Given the description of an element on the screen output the (x, y) to click on. 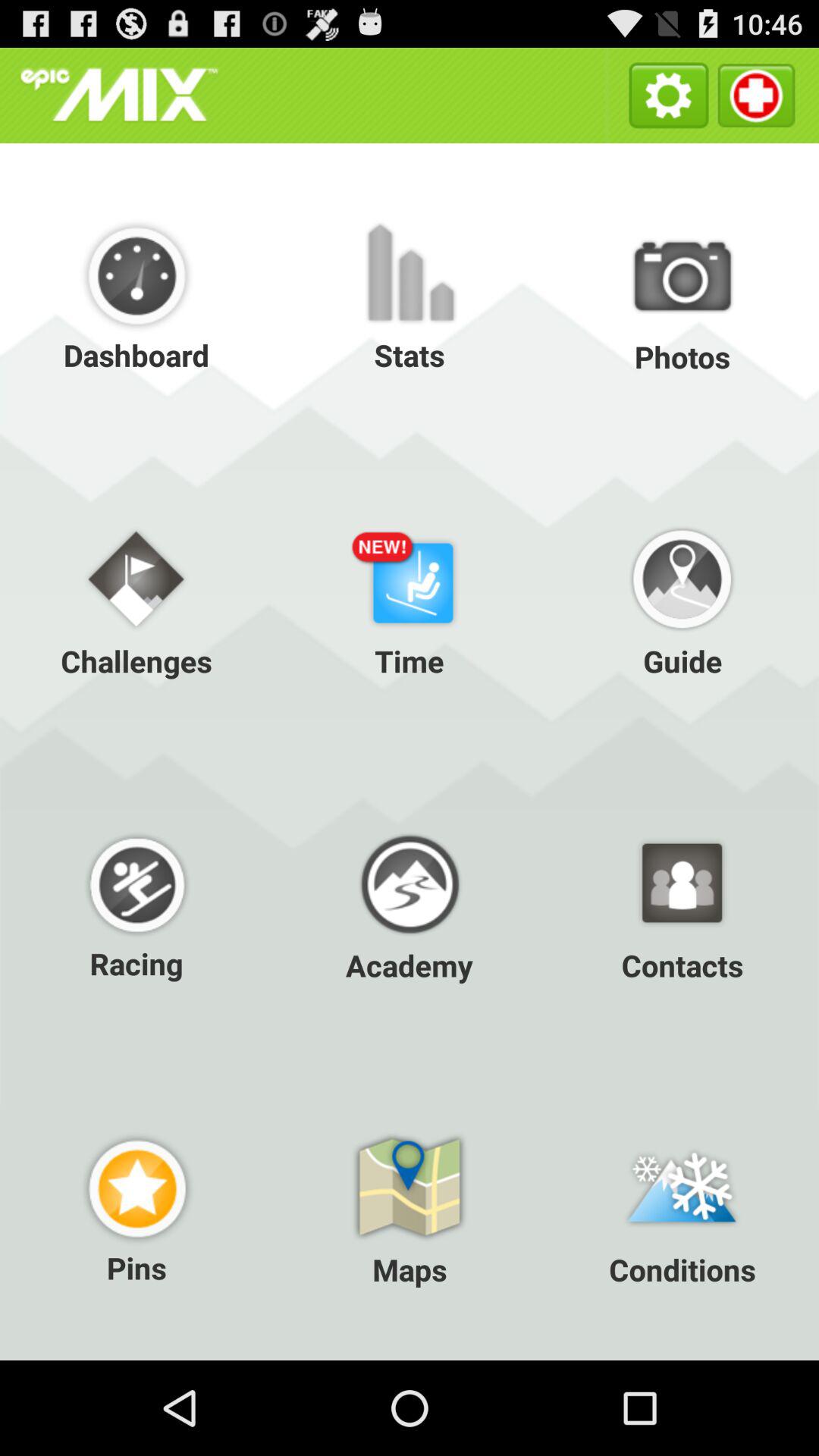
tap dashboard button (136, 295)
